Given the description of an element on the screen output the (x, y) to click on. 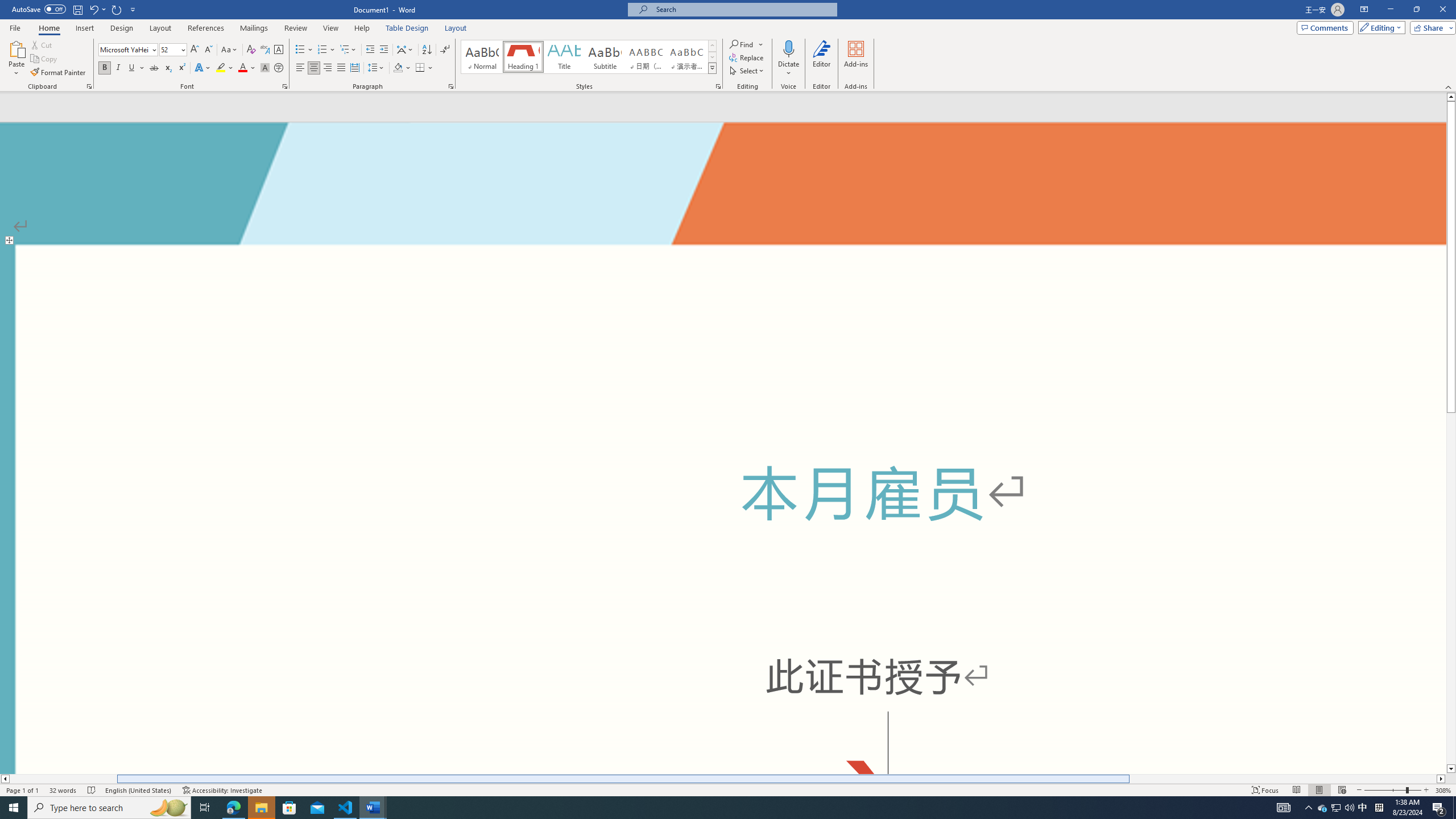
Spelling and Grammar Check No Errors (91, 790)
Styles (711, 67)
Word Count 32 words (63, 790)
Decrease Indent (370, 49)
Font Color (246, 67)
Subscript (167, 67)
Heading 1 (522, 56)
Font... (285, 85)
